Given the description of an element on the screen output the (x, y) to click on. 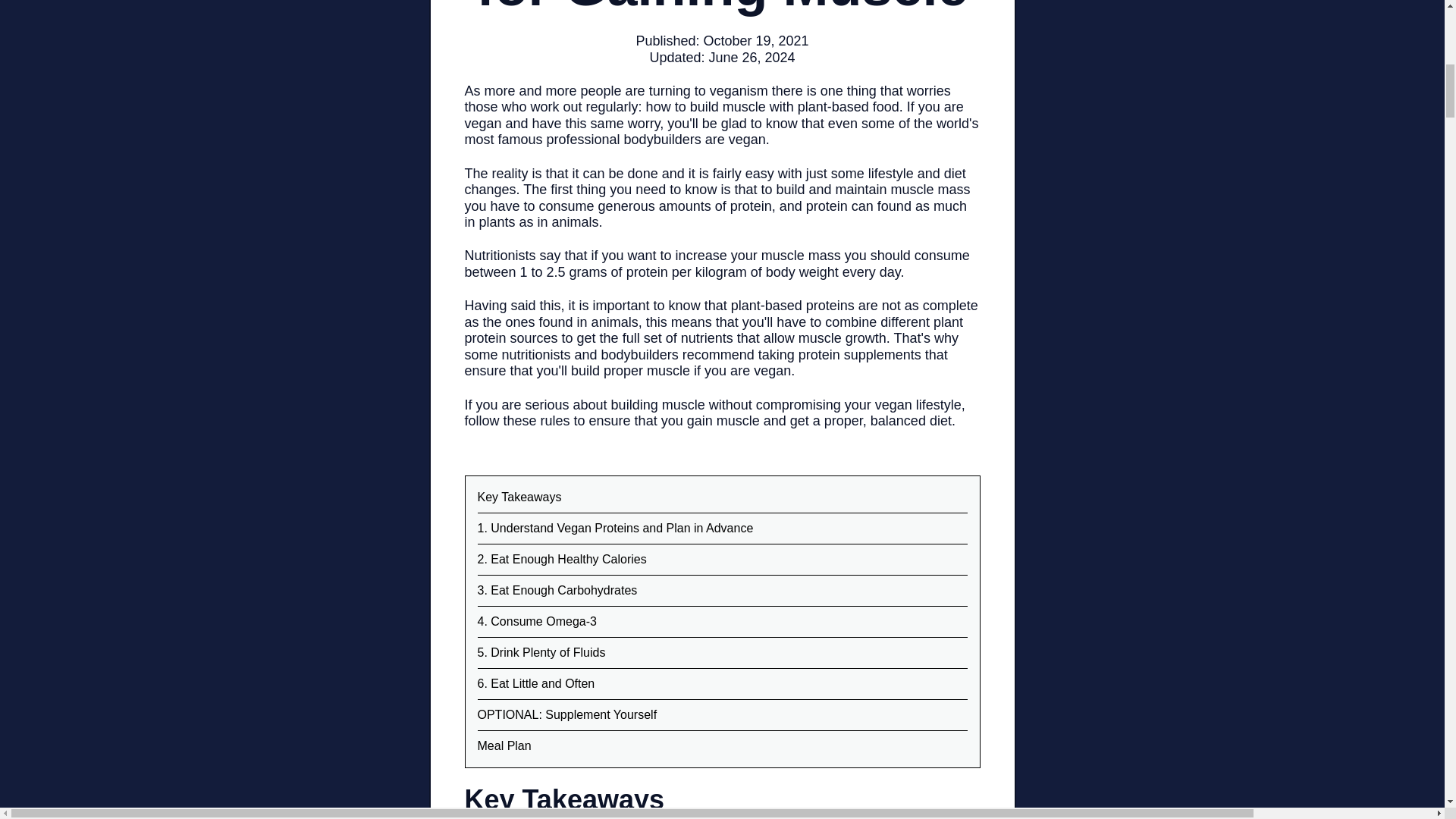
3. Eat Enough Carbohydrates (557, 590)
Key Takeaways (519, 496)
2. Eat Enough Healthy Calories (561, 558)
6. Eat Little and Often (536, 683)
5. Drink Plenty of Fluids (541, 652)
OPTIONAL: Supplement Yourself (567, 714)
4. Consume Omega-3 (536, 621)
Meal Plan (504, 745)
1. Understand Vegan Proteins and Plan in Advance (615, 527)
